Given the description of an element on the screen output the (x, y) to click on. 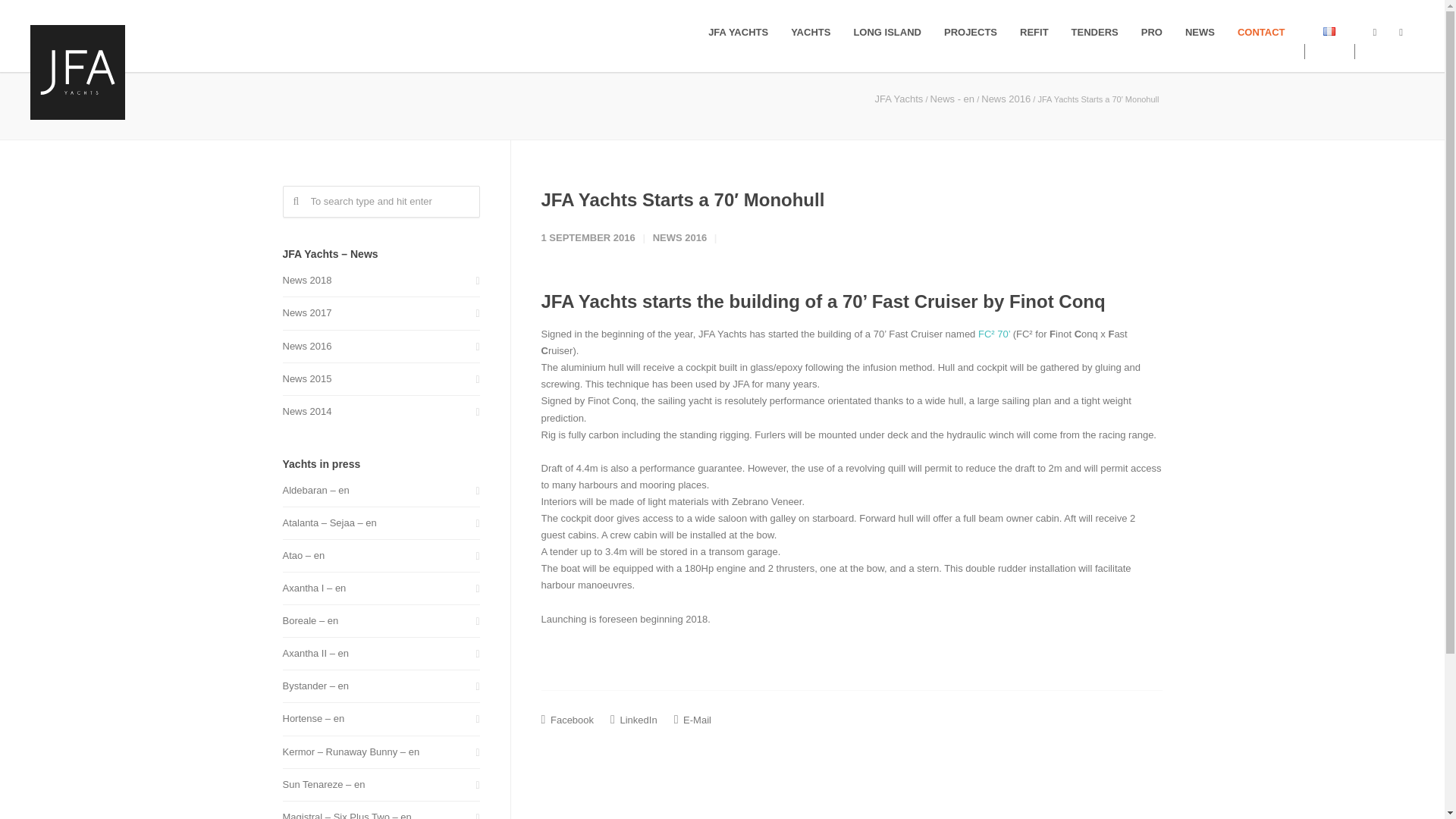
Youtube (1400, 32)
PROJECTS (971, 32)
View all posts filed under News 2014 (306, 411)
LONG ISLAND (887, 32)
To search type and hit enter (380, 201)
Share via LinkedIn (634, 719)
CONTACT (1261, 32)
NEWS (1199, 32)
View all posts filed under News 2015 (306, 379)
Share via E-Mail (692, 719)
Share via Facebook (567, 719)
YACHTS (809, 32)
View all posts filed under News 2017 (306, 312)
TENDERS (1094, 32)
JFA YACHTS (737, 32)
